Given the description of an element on the screen output the (x, y) to click on. 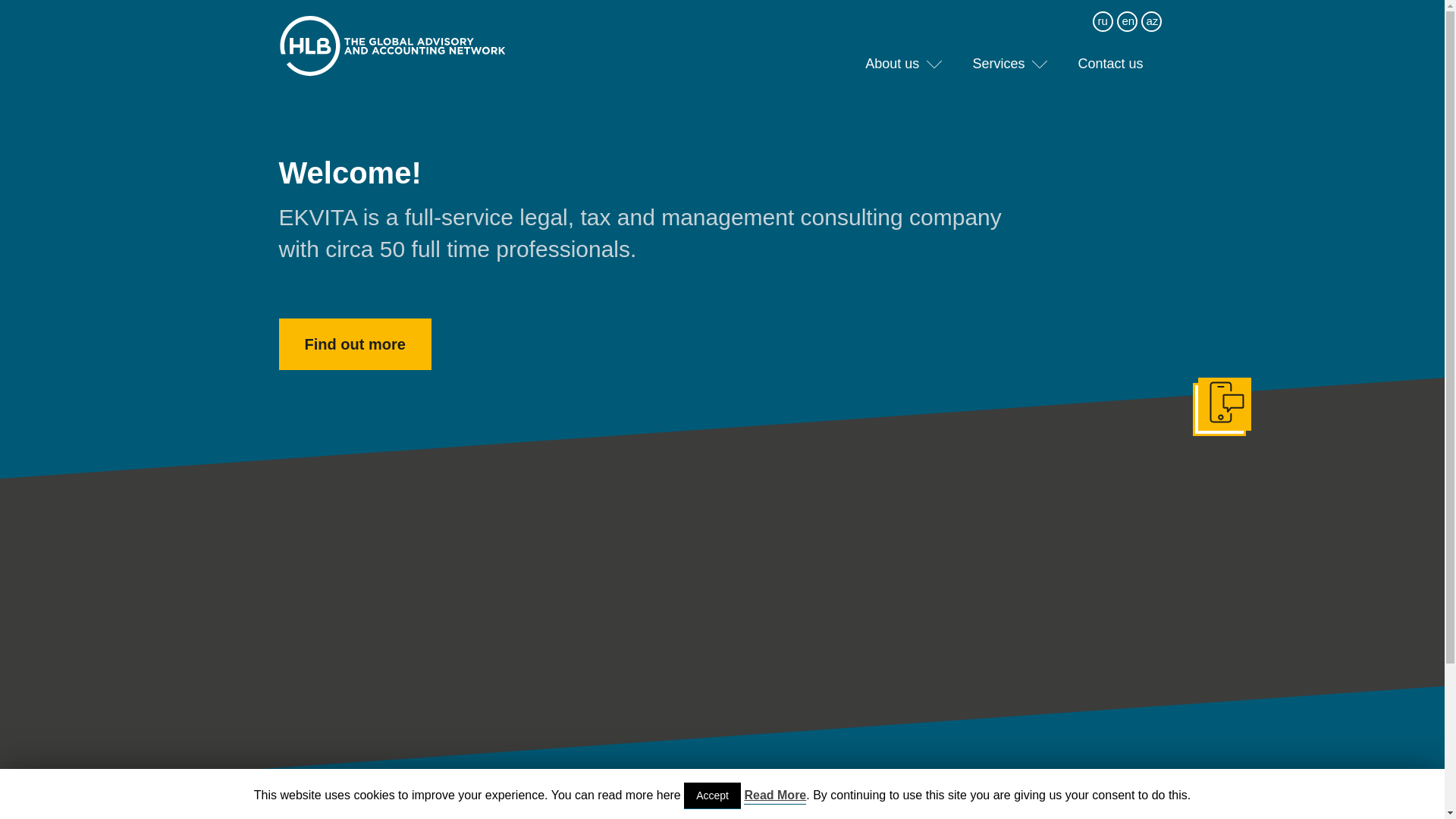
az Element type: text (1151, 21)
Services Element type: text (998, 66)
Accept Element type: text (712, 795)
Find out more Element type: text (355, 344)
Read More Element type: text (774, 795)
About us Element type: text (892, 66)
ru Element type: text (1102, 21)
Contact us Element type: text (1109, 66)
en Element type: text (1127, 21)
Get in touch Element type: text (1218, 409)
